Given the description of an element on the screen output the (x, y) to click on. 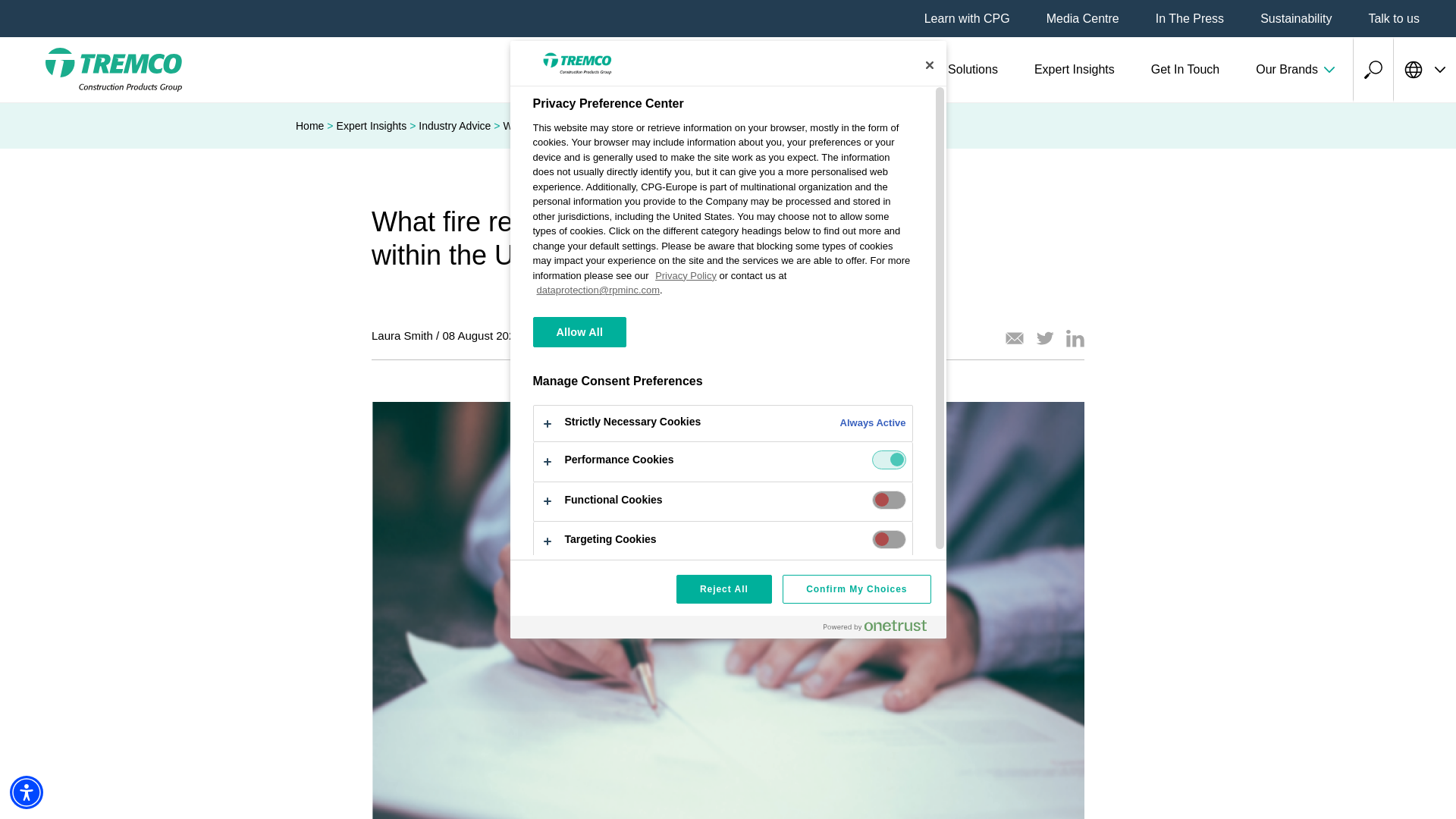
Learn with CPG (967, 18)
Powered by OneTrust Opens in a new Tab (875, 625)
Expert Insights (1074, 69)
Media Centre (1082, 18)
Our Brands (1295, 69)
Reject All Confirm My Choices (726, 598)
Get In Touch (1185, 69)
Accessibility Menu (26, 792)
Sustainability (1296, 18)
In The Press (1190, 18)
